Given the description of an element on the screen output the (x, y) to click on. 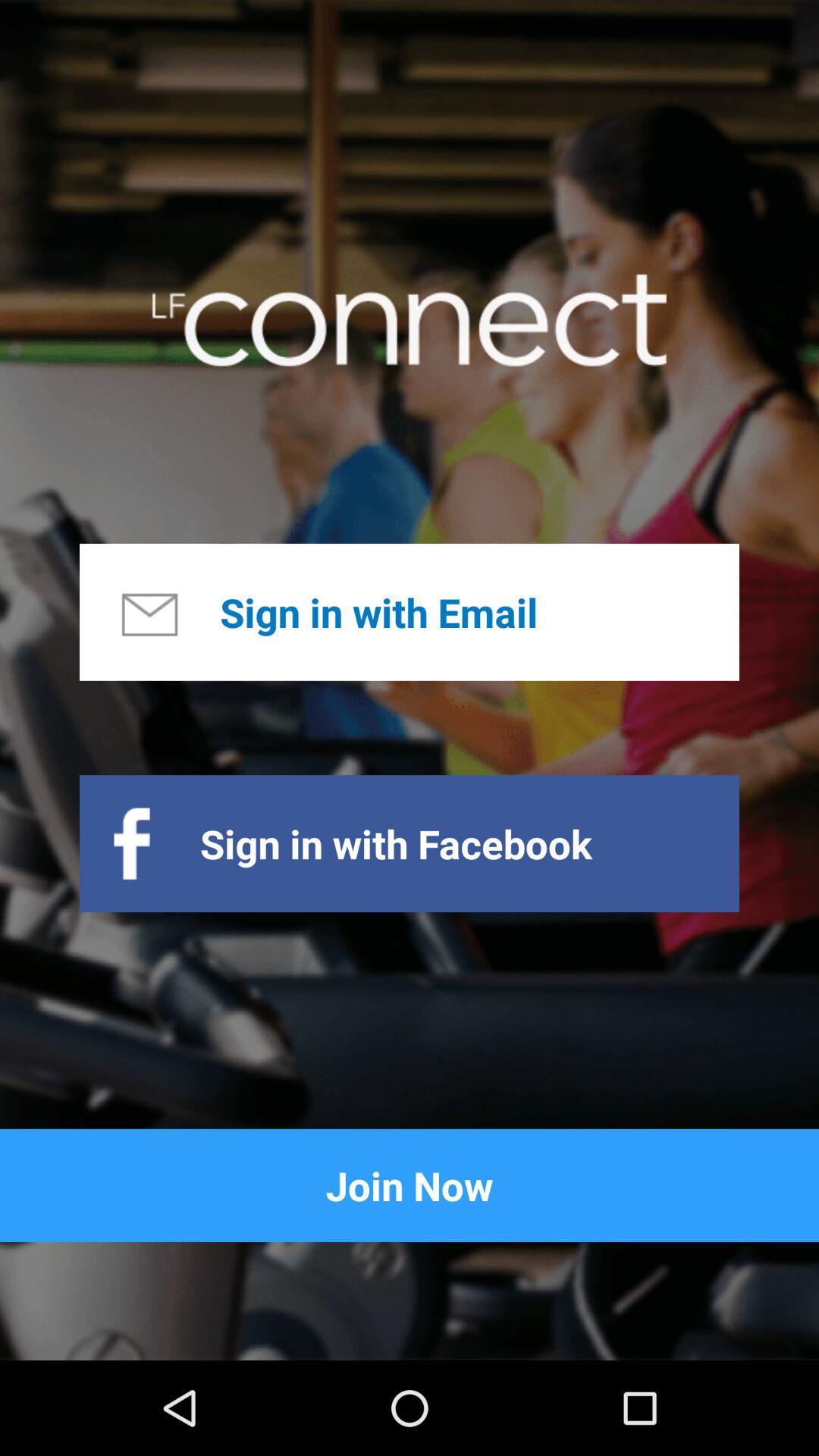
click app below the sign in with (409, 1185)
